Given the description of an element on the screen output the (x, y) to click on. 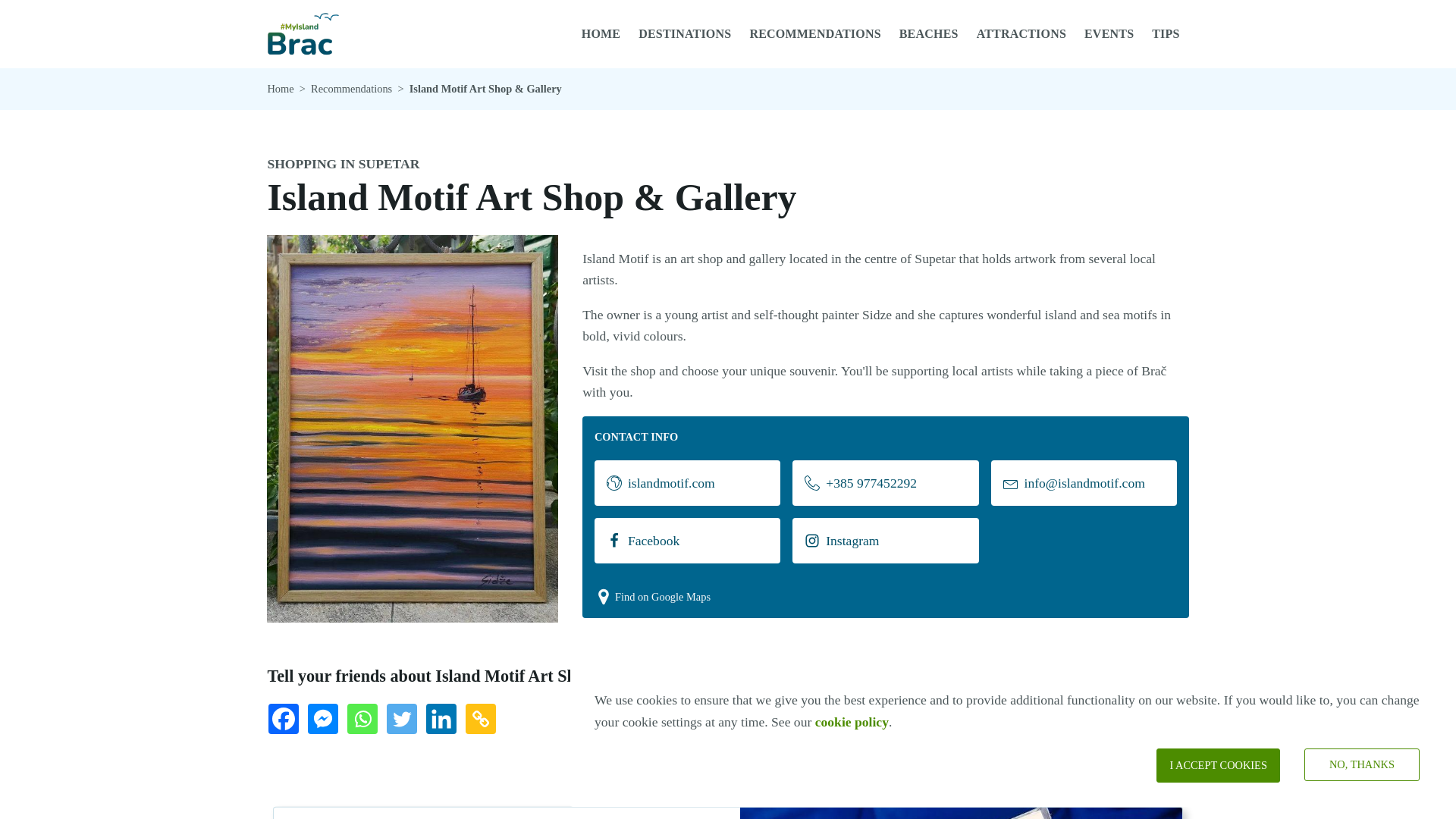
islandmotif.com (687, 483)
Facebook (687, 540)
Instagram (885, 540)
Copy Link (483, 721)
DESTINATIONS (683, 33)
Twitter (405, 721)
EVENTS (1109, 33)
Recommendations (351, 88)
Find on Google Maps (652, 597)
Home (280, 88)
